Given the description of an element on the screen output the (x, y) to click on. 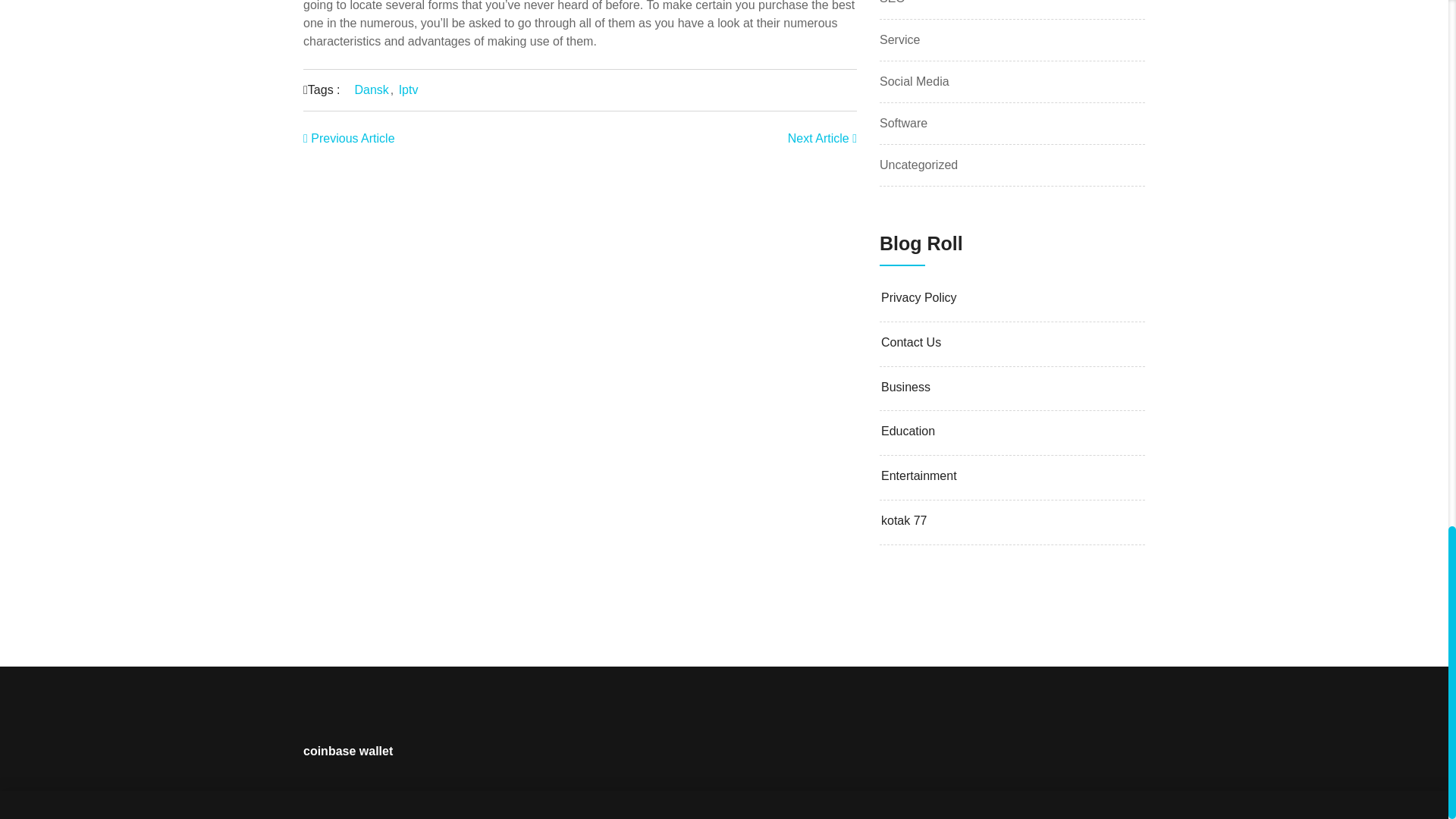
Iptv (408, 88)
Social Media (914, 81)
SEO (892, 2)
Dansk (370, 88)
Privacy Policy (1012, 298)
Uncategorized (918, 164)
Software (903, 123)
Service (899, 39)
Previous Article (348, 137)
Next Article (822, 137)
